Given the description of an element on the screen output the (x, y) to click on. 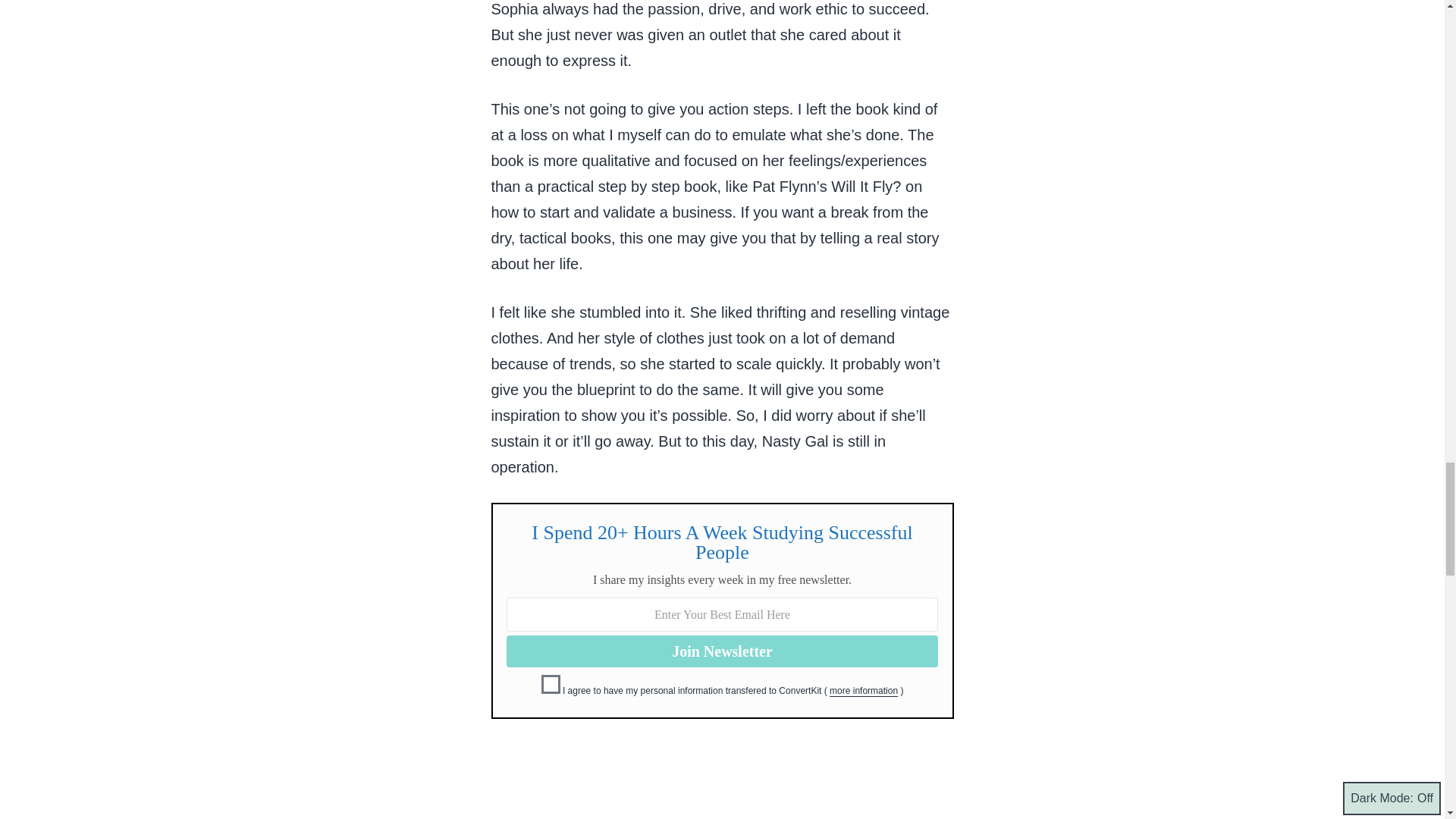
more information (863, 690)
Join Newsletter (721, 651)
Join Newsletter (721, 651)
on (550, 683)
